Given the description of an element on the screen output the (x, y) to click on. 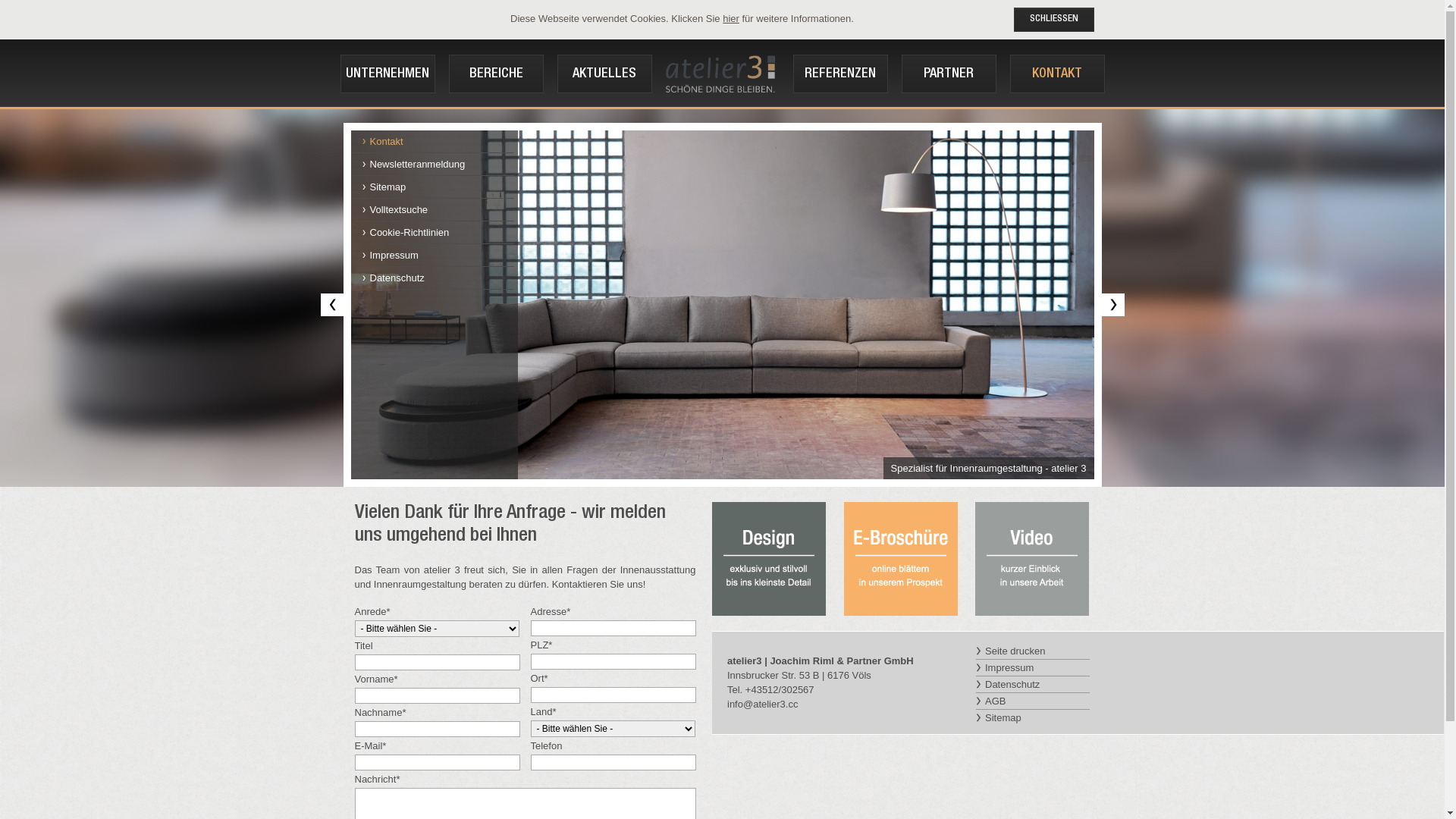
AGB Element type: text (1032, 701)
Newsletteranmeldung Element type: text (438, 163)
Cookie-Richtlinien Element type: text (438, 232)
Impressum Element type: text (438, 254)
BEREICHE Element type: text (495, 73)
Seite drucken Element type: text (1032, 651)
AKTUELLES Element type: text (604, 73)
UNTERNEHMEN Element type: text (387, 73)
Sitemap Element type: text (1032, 717)
Datenschutz Element type: text (438, 277)
SCHLIESSEN Element type: text (1053, 19)
Datenschutz Element type: text (1032, 684)
Sitemap Element type: text (438, 186)
info@atelier3.cc Element type: text (762, 703)
hier Element type: text (730, 18)
Impressum Element type: text (1032, 667)
PARTNER Element type: text (948, 73)
Kontakt Element type: text (438, 141)
Volltextsuche Element type: text (438, 209)
REFERENZEN Element type: text (839, 73)
KONTAKT Element type: text (1056, 73)
